Given the description of an element on the screen output the (x, y) to click on. 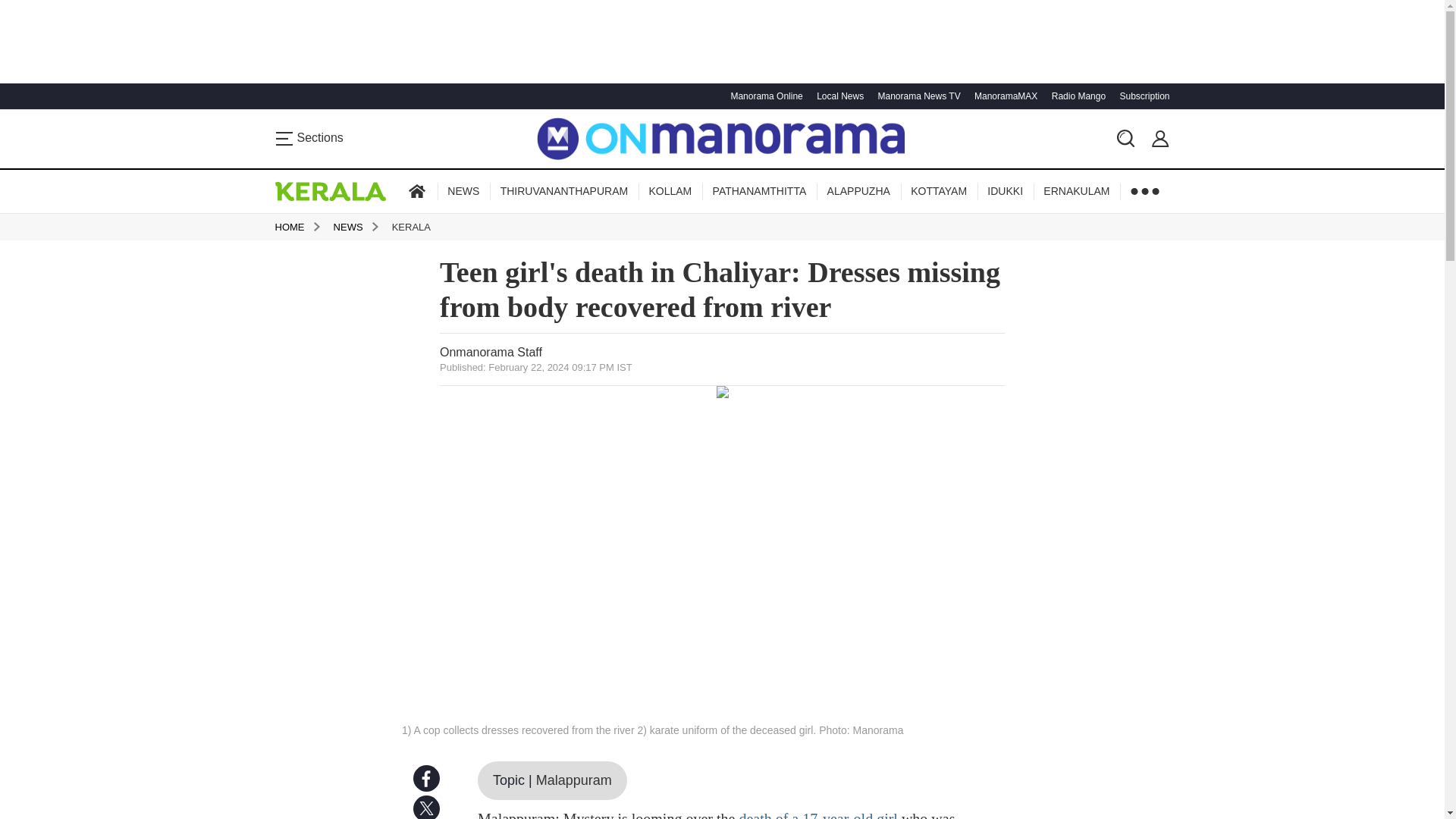
ManoramaMAX (1003, 95)
Local News (837, 95)
THIRUVANANTHAPURAM (564, 191)
Radio Mango (1076, 95)
Manorama Online (764, 95)
NEWS (462, 191)
